Given the description of an element on the screen output the (x, y) to click on. 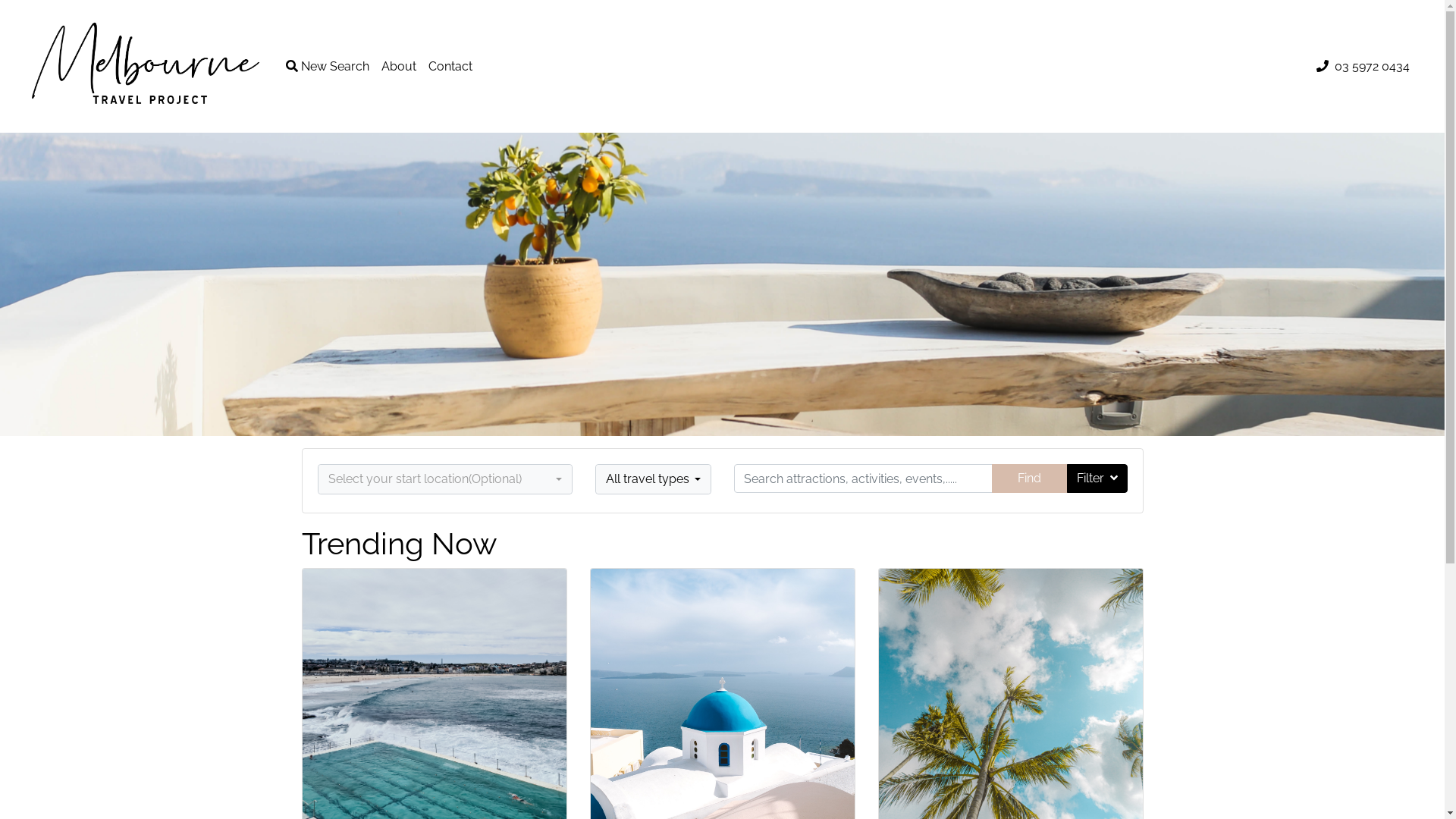
Find Element type: text (1029, 478)
Contact Element type: text (450, 66)
Select your start location(Optional) Element type: text (444, 478)
All travel types Element type: text (653, 478)
03 5972 0434 Element type: text (1371, 66)
 New Search Element type: text (327, 66)
About Element type: text (398, 66)
Filter Element type: text (1096, 478)
